Given the description of an element on the screen output the (x, y) to click on. 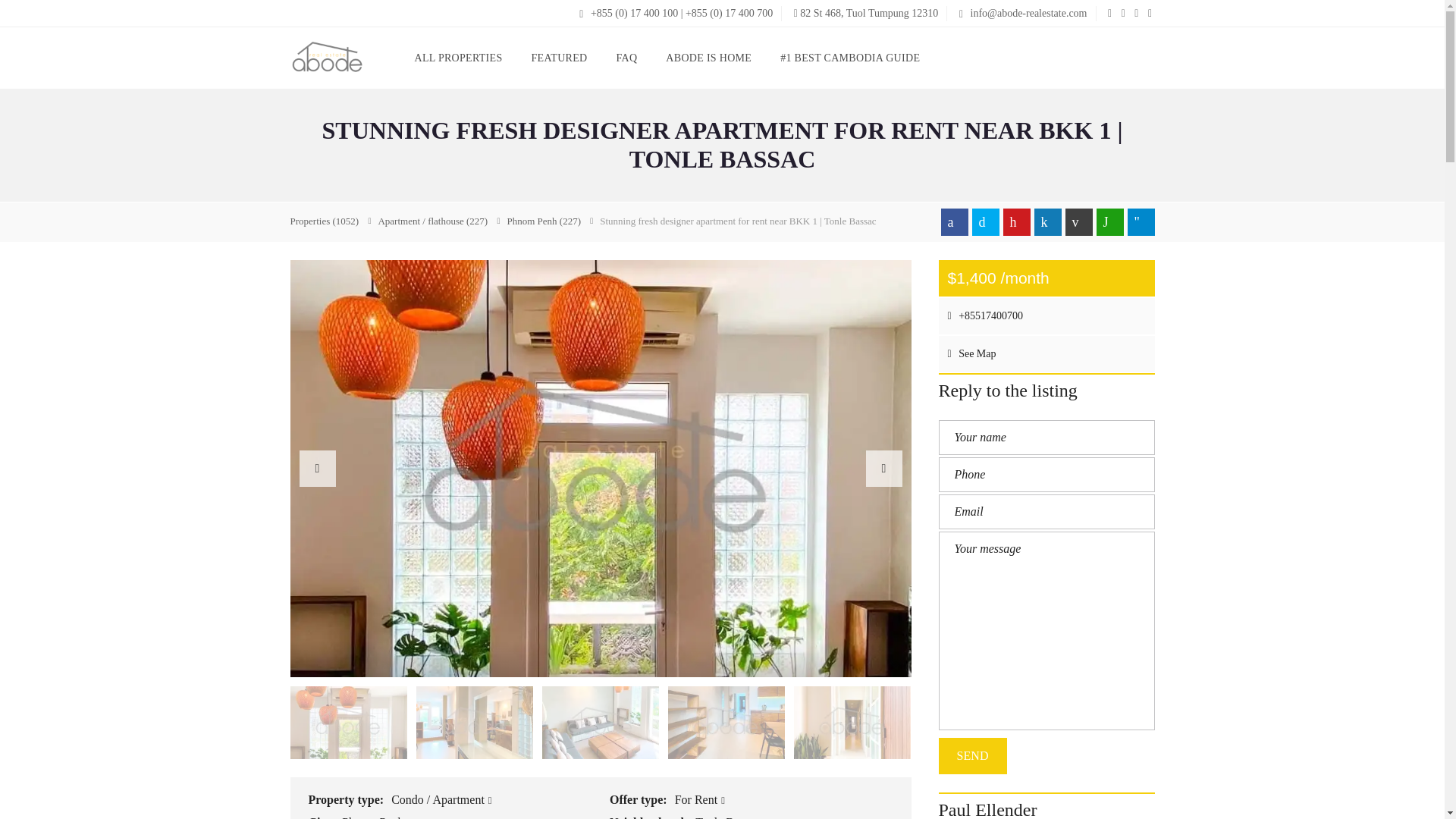
For Rent (700, 799)
Send (973, 755)
Share on Tweet (985, 221)
Share on Pin it (1016, 221)
Share on LinkedIn (1047, 221)
Properties (323, 220)
Share on Share on Facebook (954, 221)
ABODE IS HOME (708, 57)
Share on WhatsApp (1110, 221)
FEATURED (559, 57)
